Given the description of an element on the screen output the (x, y) to click on. 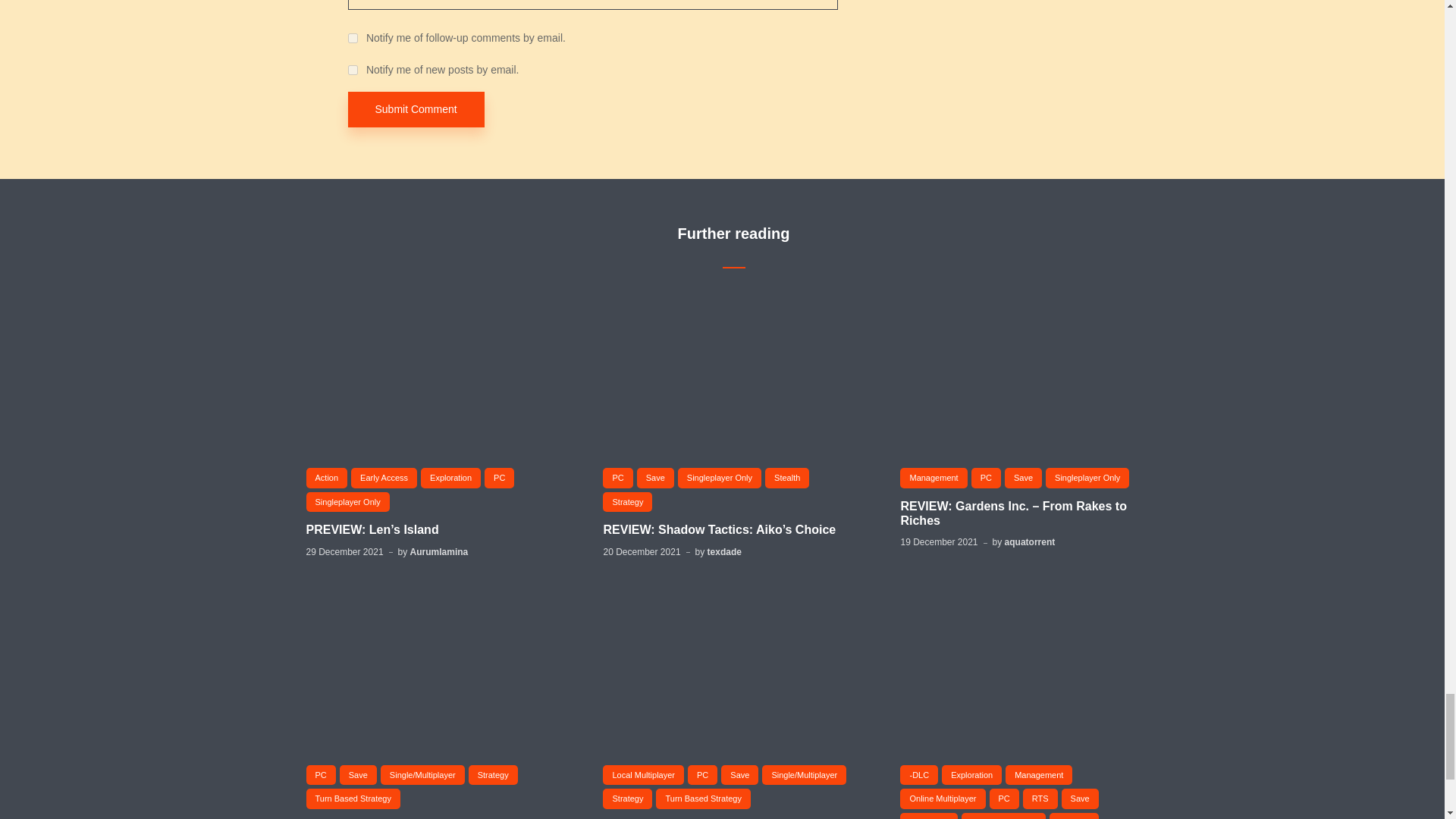
Submit Comment (415, 109)
subscribe (351, 70)
subscribe (351, 38)
